Given the description of an element on the screen output the (x, y) to click on. 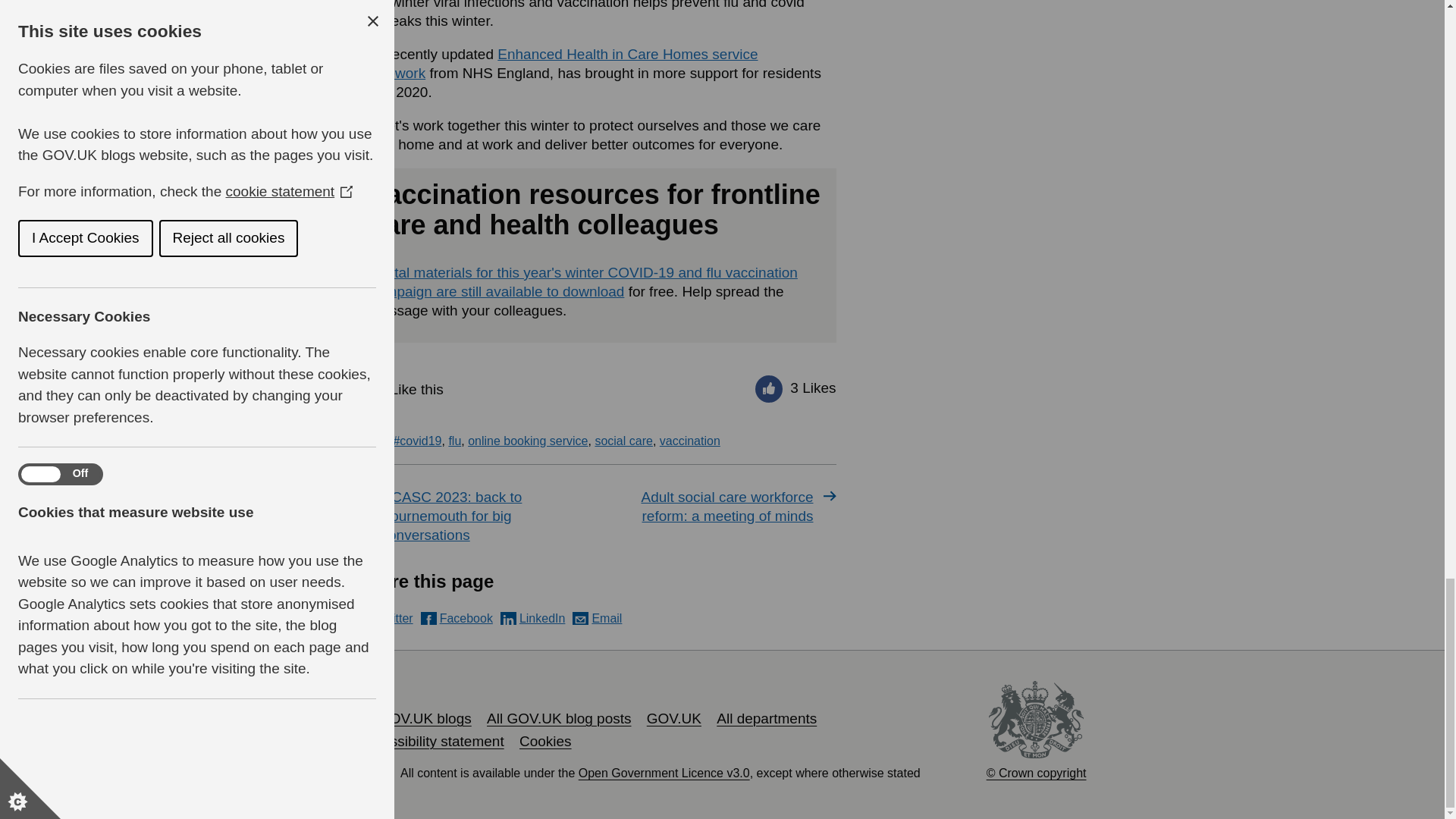
vaccination (689, 440)
Like this (402, 387)
social care (623, 440)
Facebook (456, 617)
Email (596, 617)
online booking service (527, 440)
LinkedIn (533, 617)
Adult social care workforce reform: a meeting of minds (718, 506)
Enhanced Health in Care Homes service framework (557, 63)
